Given the description of an element on the screen output the (x, y) to click on. 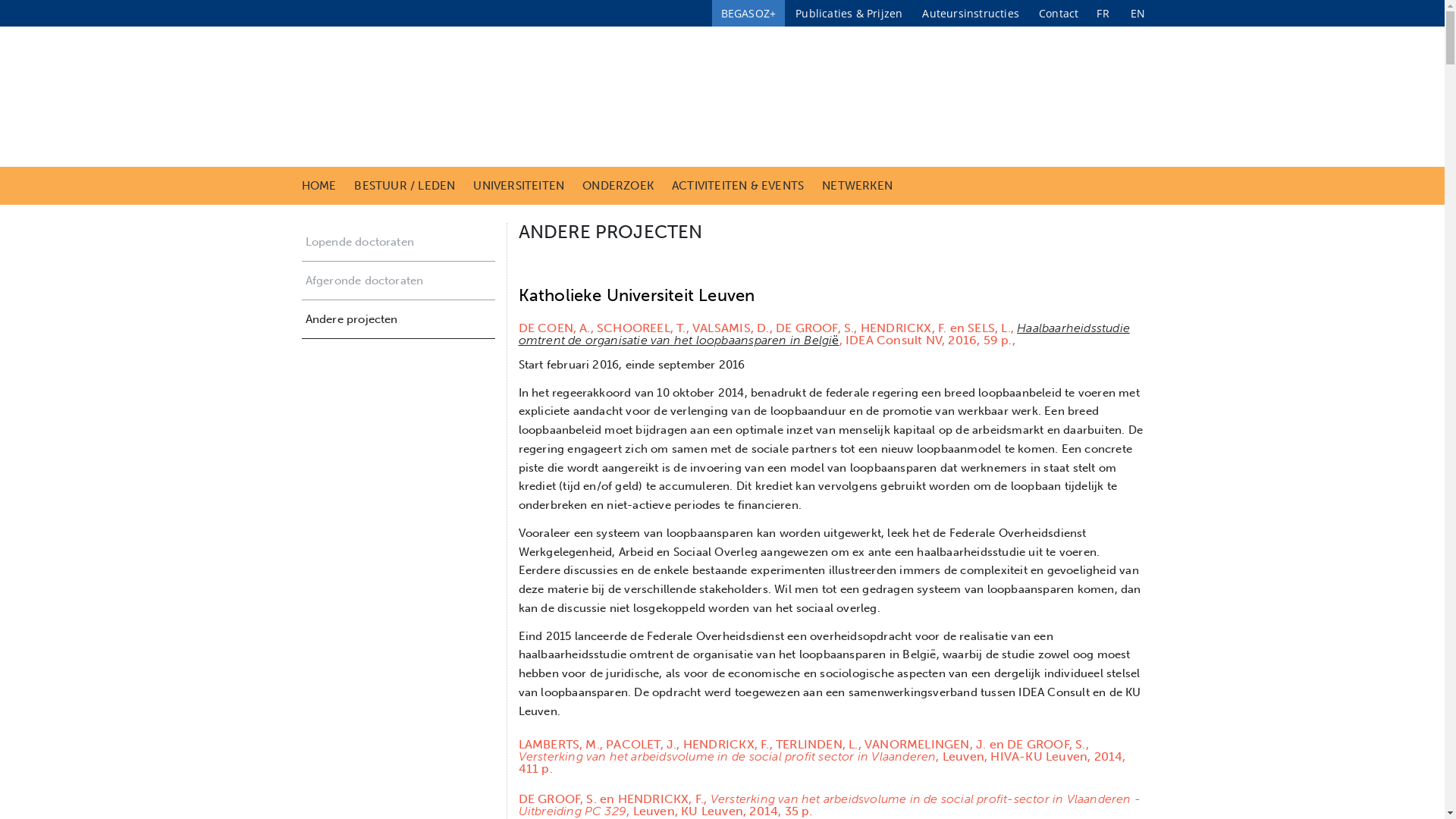
BESTUUR / LEDEN Element type: text (404, 185)
NETWERKEN Element type: text (857, 185)
Auteursinstructies Element type: text (970, 13)
Contact Element type: text (1058, 13)
Andere projecten Element type: text (398, 319)
EN Element type: text (1137, 13)
UNIVERSITEITEN Element type: text (518, 185)
BEGASOZ+ Element type: text (748, 13)
Publicaties & Prijzen Element type: text (848, 13)
Afgeronde doctoraten Element type: text (398, 280)
FR Element type: text (1102, 13)
Lopende doctoraten Element type: text (398, 241)
ONDERZOEK Element type: text (617, 185)
ACTIVITEITEN & EVENTS Element type: text (737, 185)
HOME Element type: text (318, 185)
